Given the description of an element on the screen output the (x, y) to click on. 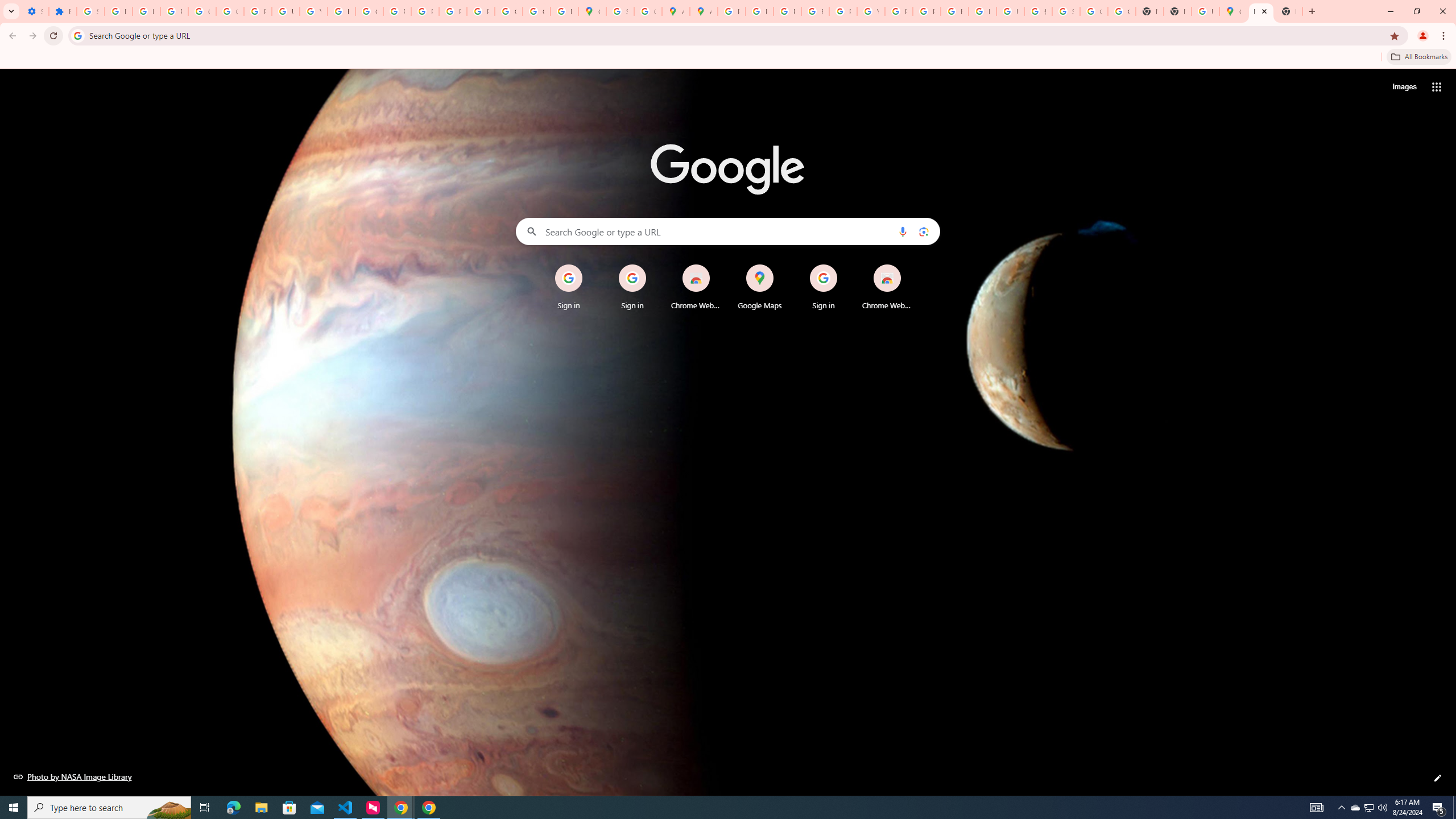
Google Maps (760, 287)
Google Maps (592, 11)
